Given the description of an element on the screen output the (x, y) to click on. 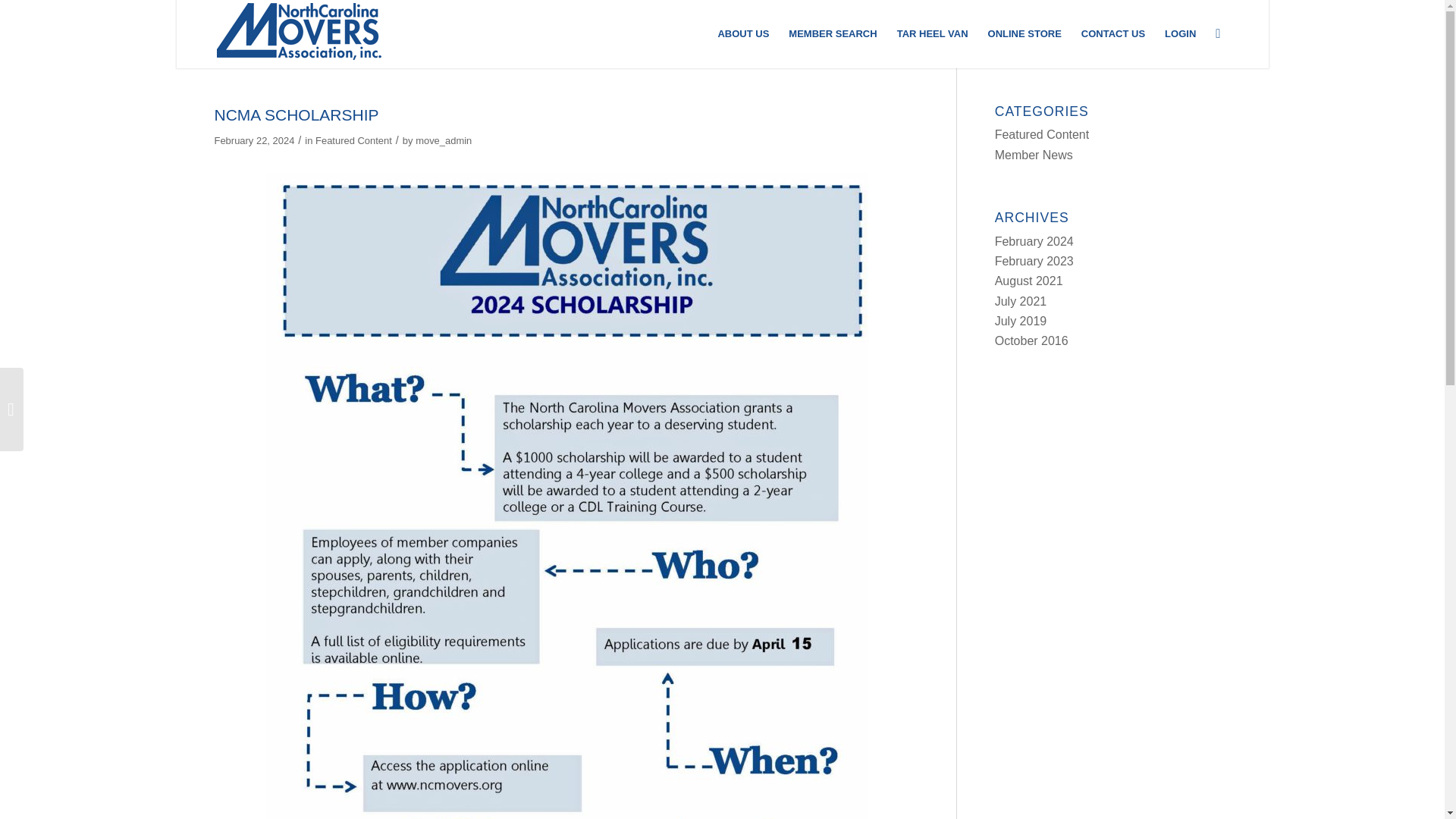
MEMBER SEARCH (832, 33)
logo (297, 30)
Member News (1033, 154)
ABOUT US (742, 33)
Featured Content (353, 140)
Featured Content (1041, 133)
February 2024 (1034, 241)
ONLINE STORE (1024, 33)
TAR HEEL VAN (932, 33)
